Given the description of an element on the screen output the (x, y) to click on. 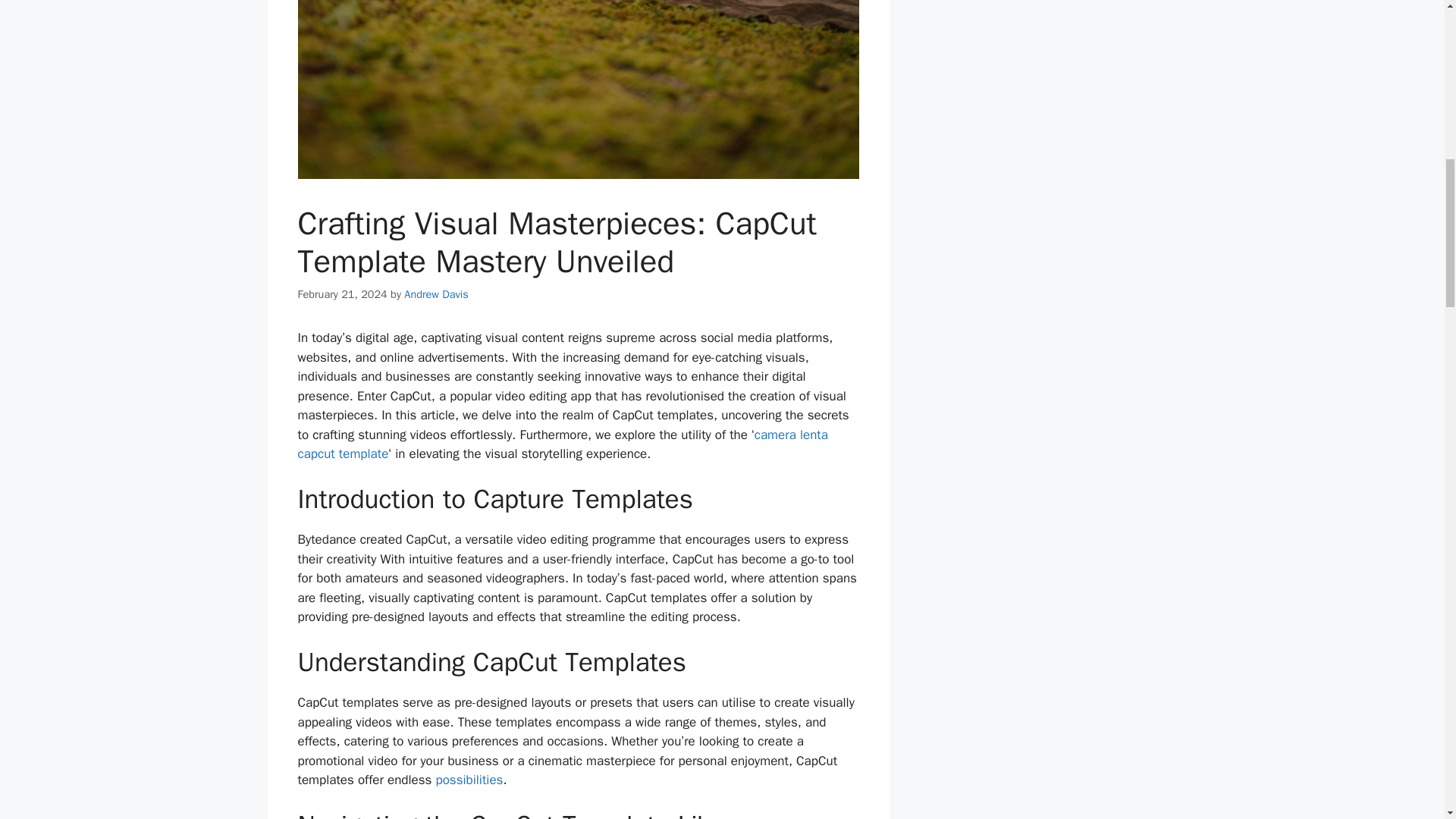
View all posts by Andrew Davis (435, 294)
possibilities (468, 779)
Andrew Davis (435, 294)
camera lenta capcut template (562, 444)
